Given the description of an element on the screen output the (x, y) to click on. 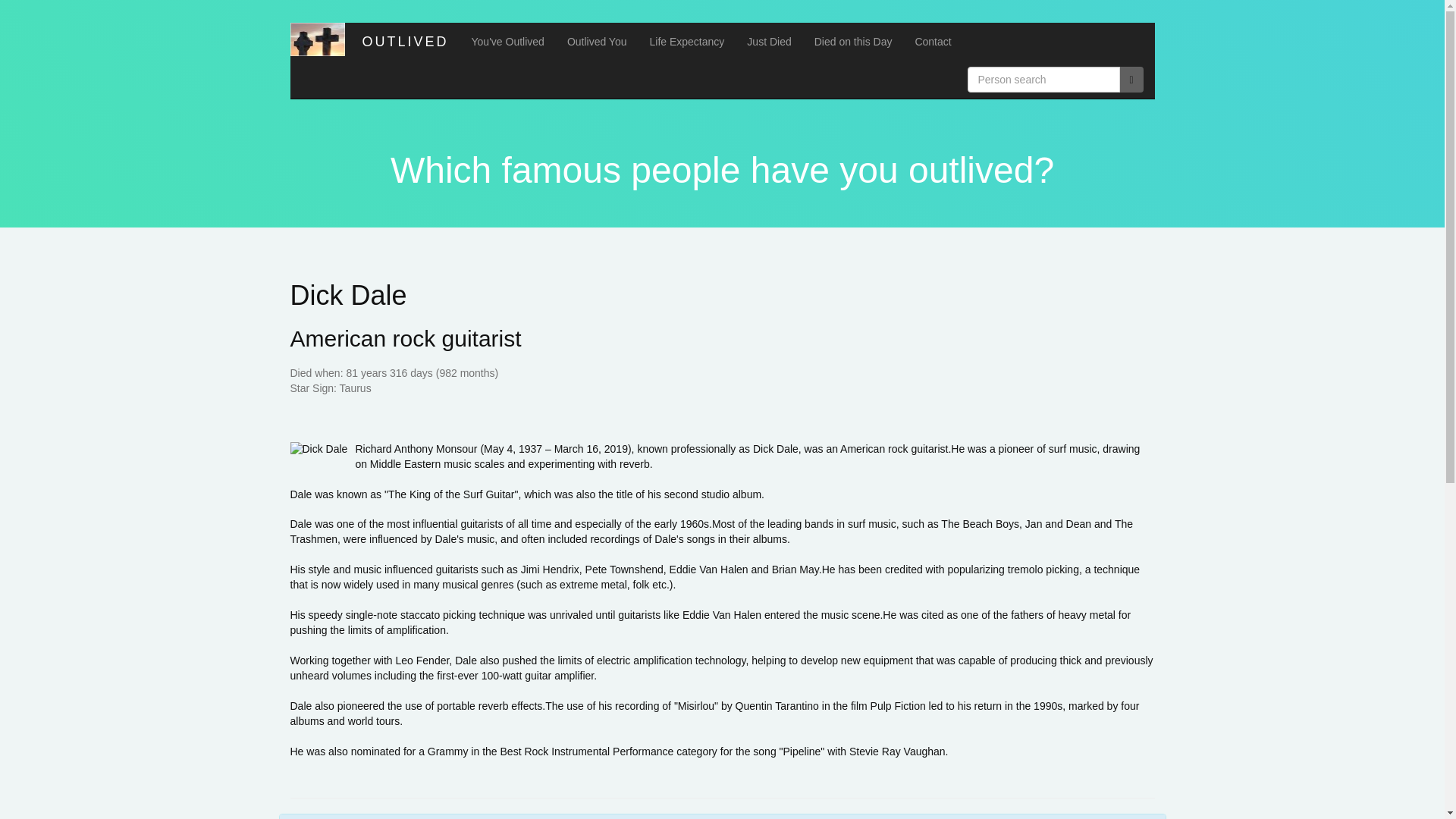
Contact (932, 41)
Died on this Day (853, 41)
 OUTLIVED (401, 41)
Just Died (768, 41)
 OUTLIVED (401, 41)
Life Expectancy (687, 41)
Outlived You (597, 41)
You've Outlived (508, 41)
